Given the description of an element on the screen output the (x, y) to click on. 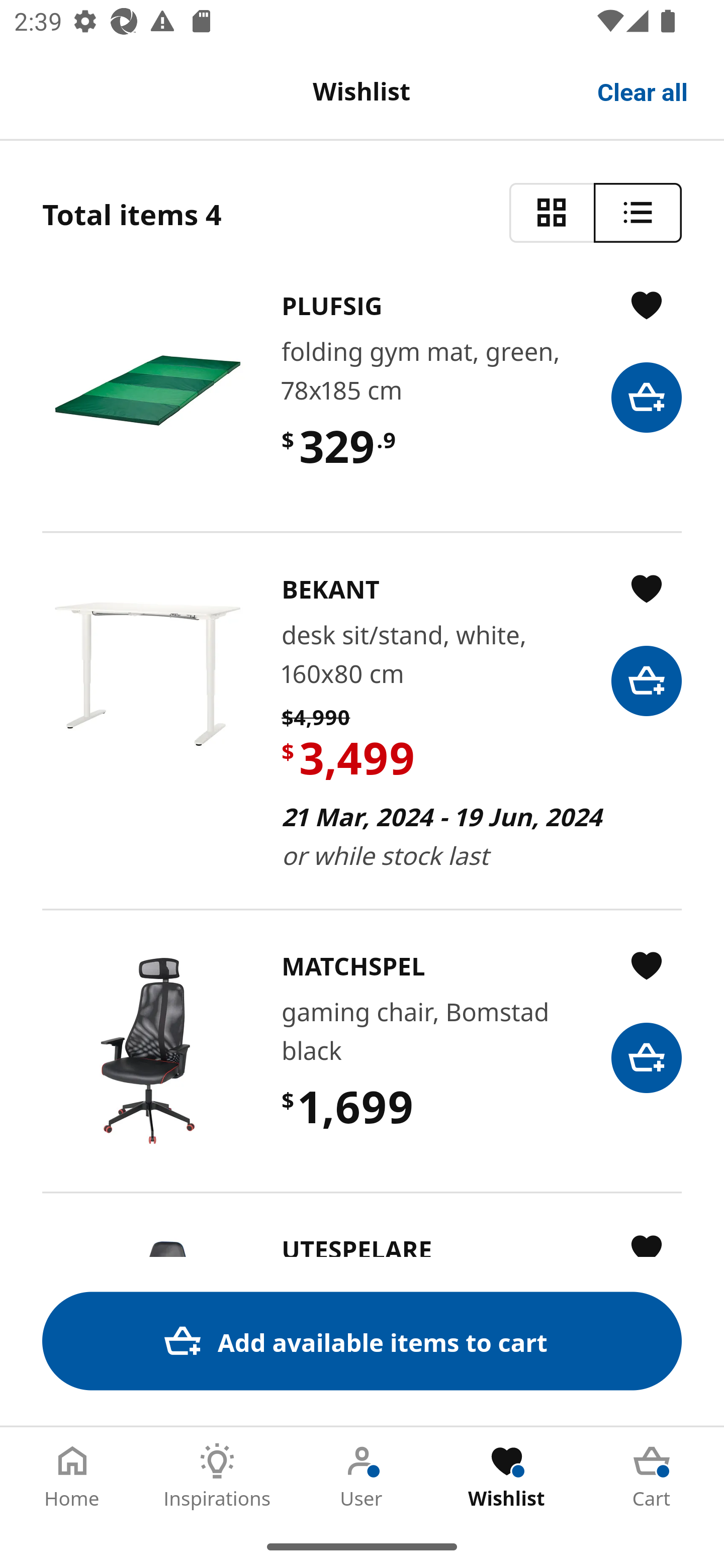
Clear all (643, 90)
Add available items to cart (361, 1341)
Home
Tab 1 of 5 (72, 1476)
Inspirations
Tab 2 of 5 (216, 1476)
User
Tab 3 of 5 (361, 1476)
Wishlist
Tab 4 of 5 (506, 1476)
Cart
Tab 5 of 5 (651, 1476)
